Given the description of an element on the screen output the (x, y) to click on. 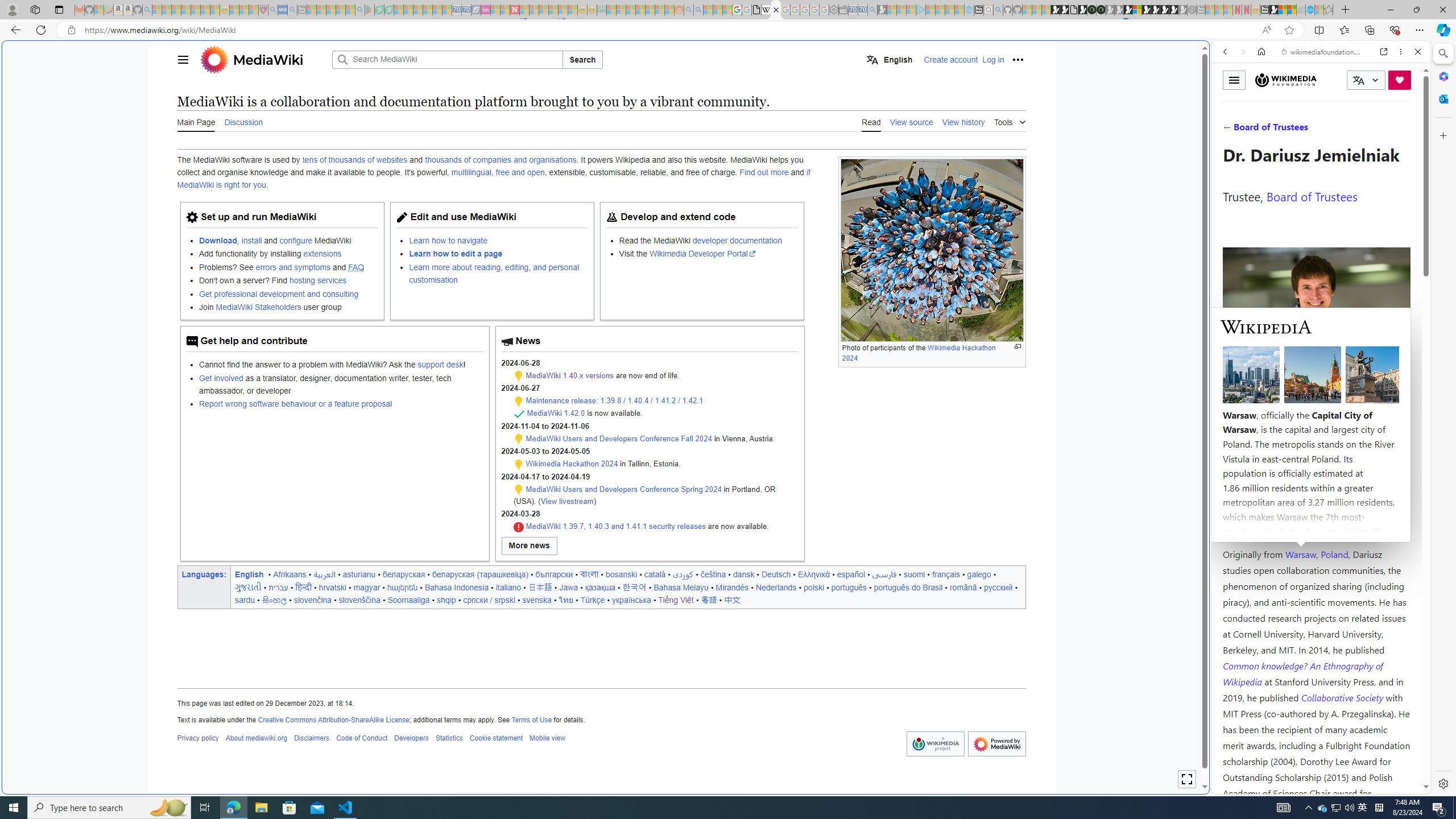
Close Customize pane (1442, 135)
Class: i icon icon-translate language-switcher__icon (1358, 80)
MediaWiki (774, 9)
Poland (1334, 554)
This page was last edited on 29 December 2023, at 18:14. (601, 703)
Wiktionary (1315, 380)
Harvard University (1259, 526)
Create account (950, 58)
Navy Quest (1300, 9)
thousands of companies and organisations (500, 159)
